Given the description of an element on the screen output the (x, y) to click on. 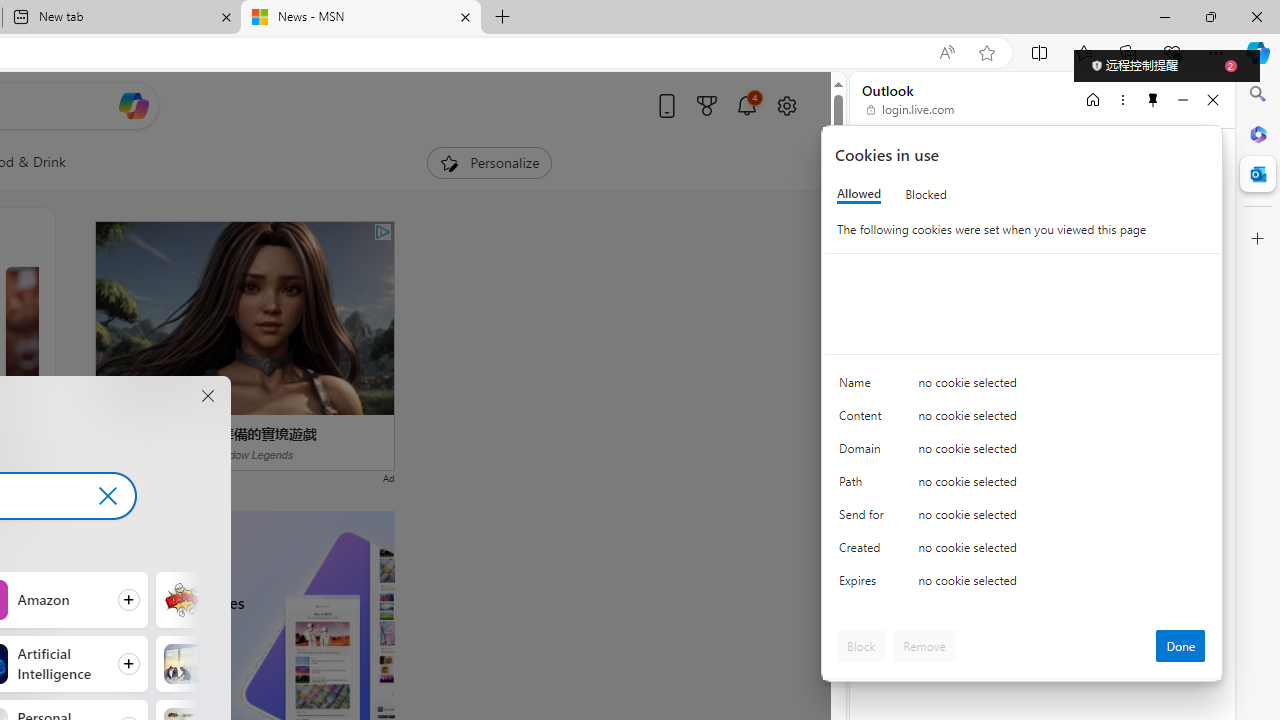
Settings and more (Alt+F) (1215, 52)
Favorites (1083, 52)
More options (1122, 99)
Jennifer Lopez has filed for divorce from Ben Affleck (134, 438)
Follow Business (249, 663)
Browser essentials (1171, 52)
To get missing image descriptions, open the context menu. (449, 162)
Name (864, 387)
Open settings (786, 105)
Comics (182, 599)
Read aloud this page (Ctrl+Shift+U) (946, 53)
Open Copilot (132, 105)
Business (182, 663)
Close tab (464, 16)
